Given the description of an element on the screen output the (x, y) to click on. 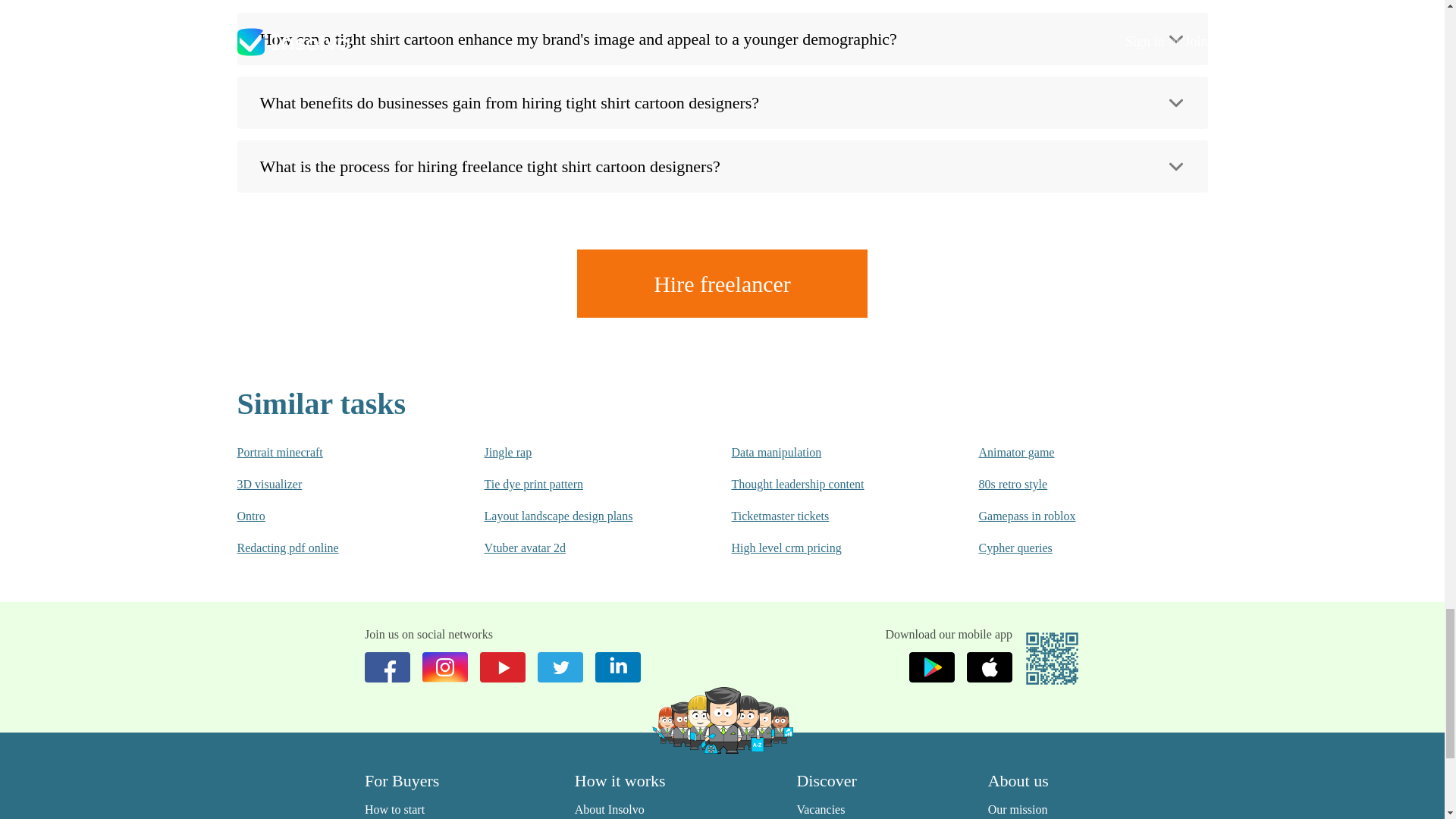
About Insolvo (610, 809)
Ticketmaster tickets (823, 515)
Data manipulation (823, 452)
Portrait minecraft (329, 452)
Animator game (1071, 452)
3D visualizer (329, 484)
Cypher queries (1071, 547)
Ontro (329, 515)
How to start (395, 809)
High level crm pricing (823, 547)
Hire freelancer (721, 283)
Vtuber avatar 2d (576, 547)
80s retro style (1071, 484)
Thought leadership content (823, 484)
Tie dye print pattern (576, 484)
